Given the description of an element on the screen output the (x, y) to click on. 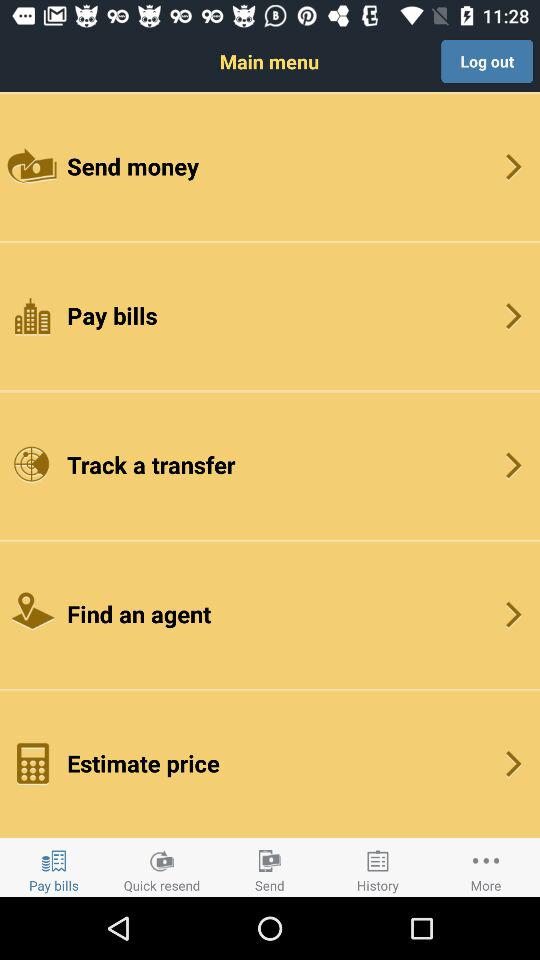
flip until the estimate price button (270, 762)
